Given the description of an element on the screen output the (x, y) to click on. 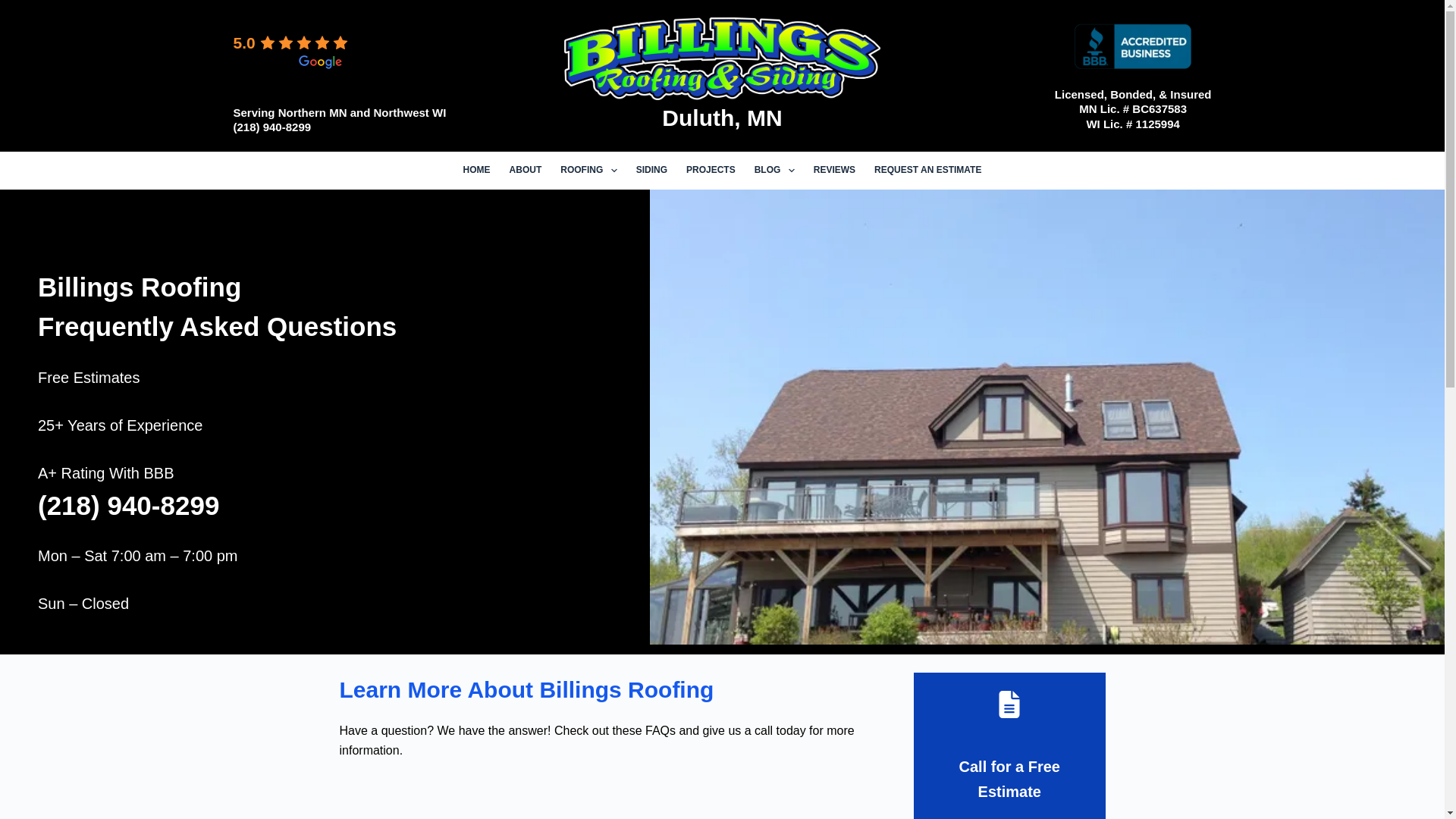
powered by Google (287, 61)
SIDING (651, 170)
Duluth, MN (721, 116)
PROJECTS (710, 170)
BLOG (773, 170)
ROOFING (588, 170)
ABOUT (525, 170)
Skip to content (15, 7)
HOME (475, 170)
